Given the description of an element on the screen output the (x, y) to click on. 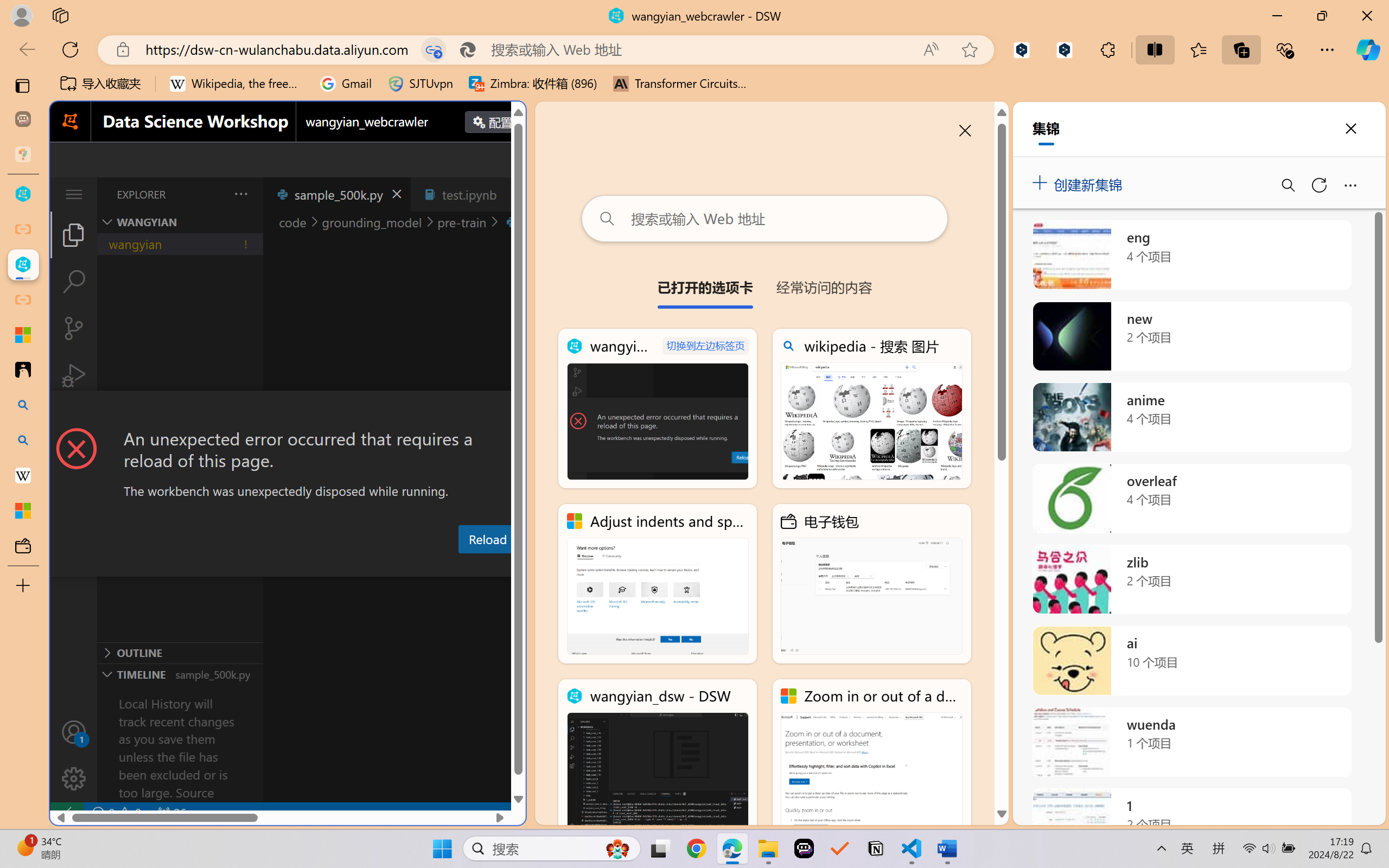
Search (Ctrl+Shift+F) (73, 281)
Gmail (345, 83)
Outline Section (179, 652)
Problems (Ctrl+Shift+M) (308, 565)
test.ipynb (468, 194)
Explorer (Ctrl+Shift+E) (73, 234)
